Given the description of an element on the screen output the (x, y) to click on. 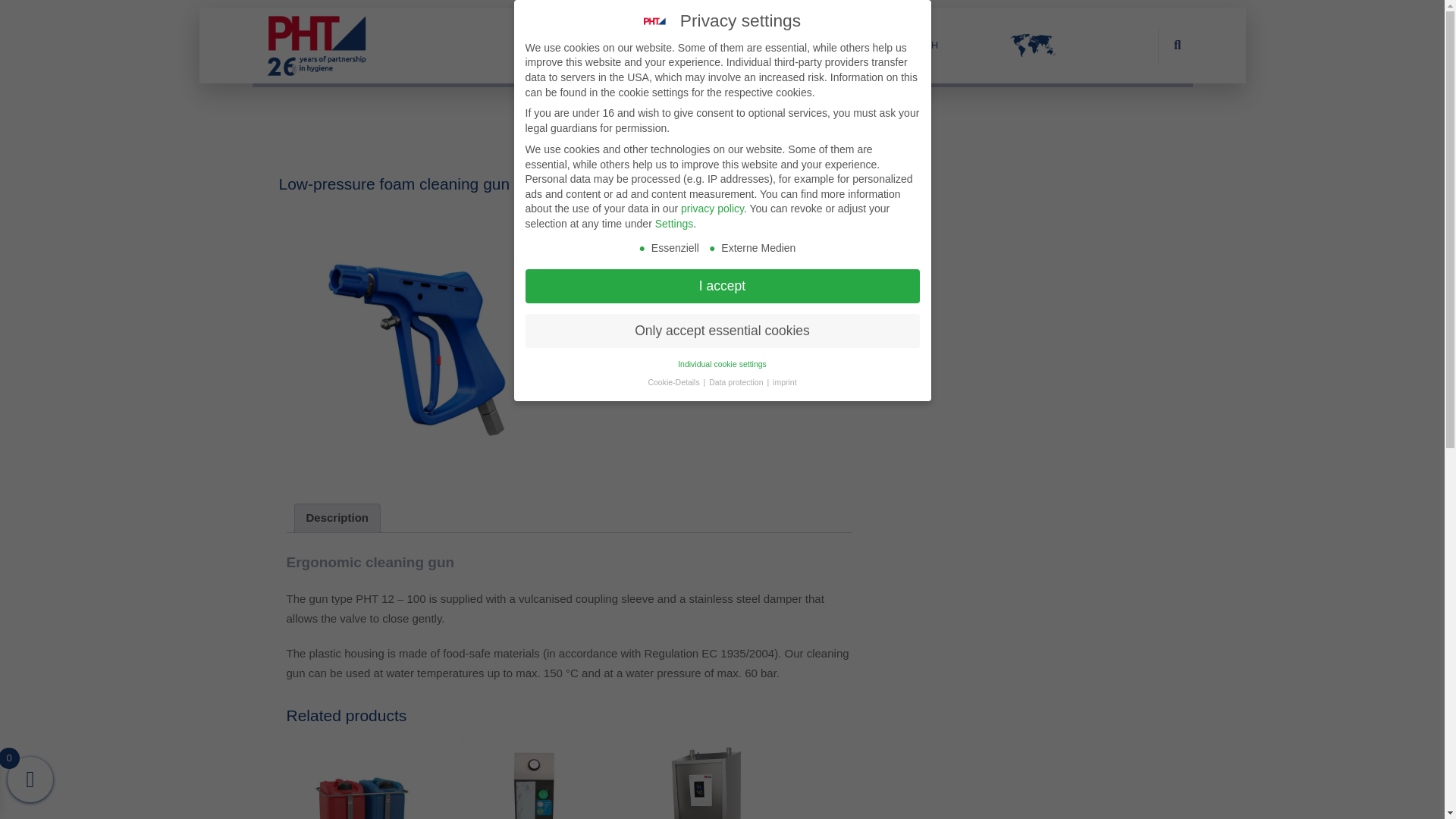
PRODUCTS (636, 45)
Betriebshygiene-Schaumreingung-Pistole (421, 343)
English (908, 45)
CONCEPTS (559, 45)
